Given the description of an element on the screen output the (x, y) to click on. 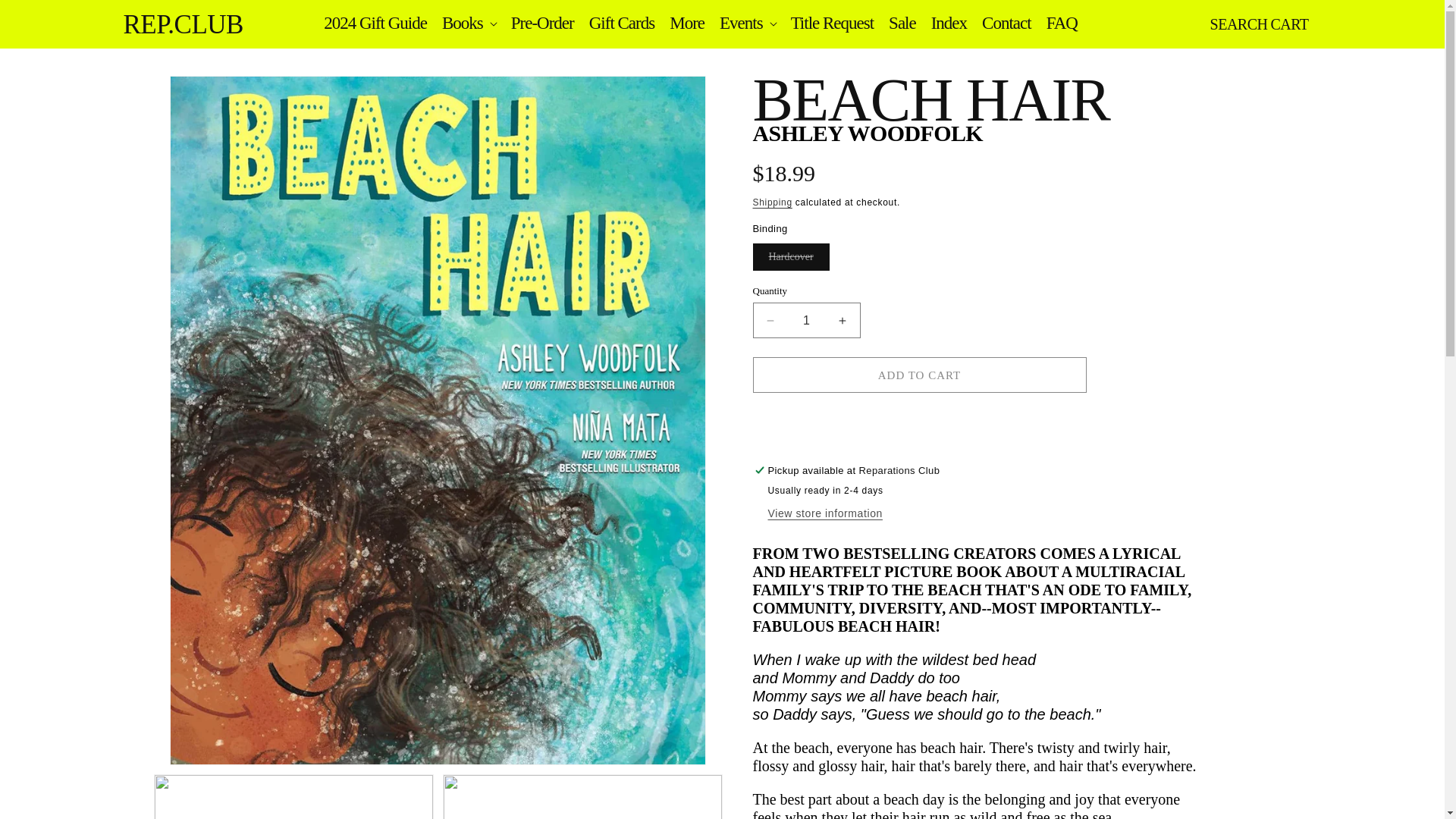
Ashley Woodfolk (867, 132)
Skip to content (45, 17)
1 (806, 320)
